Given the description of an element on the screen output the (x, y) to click on. 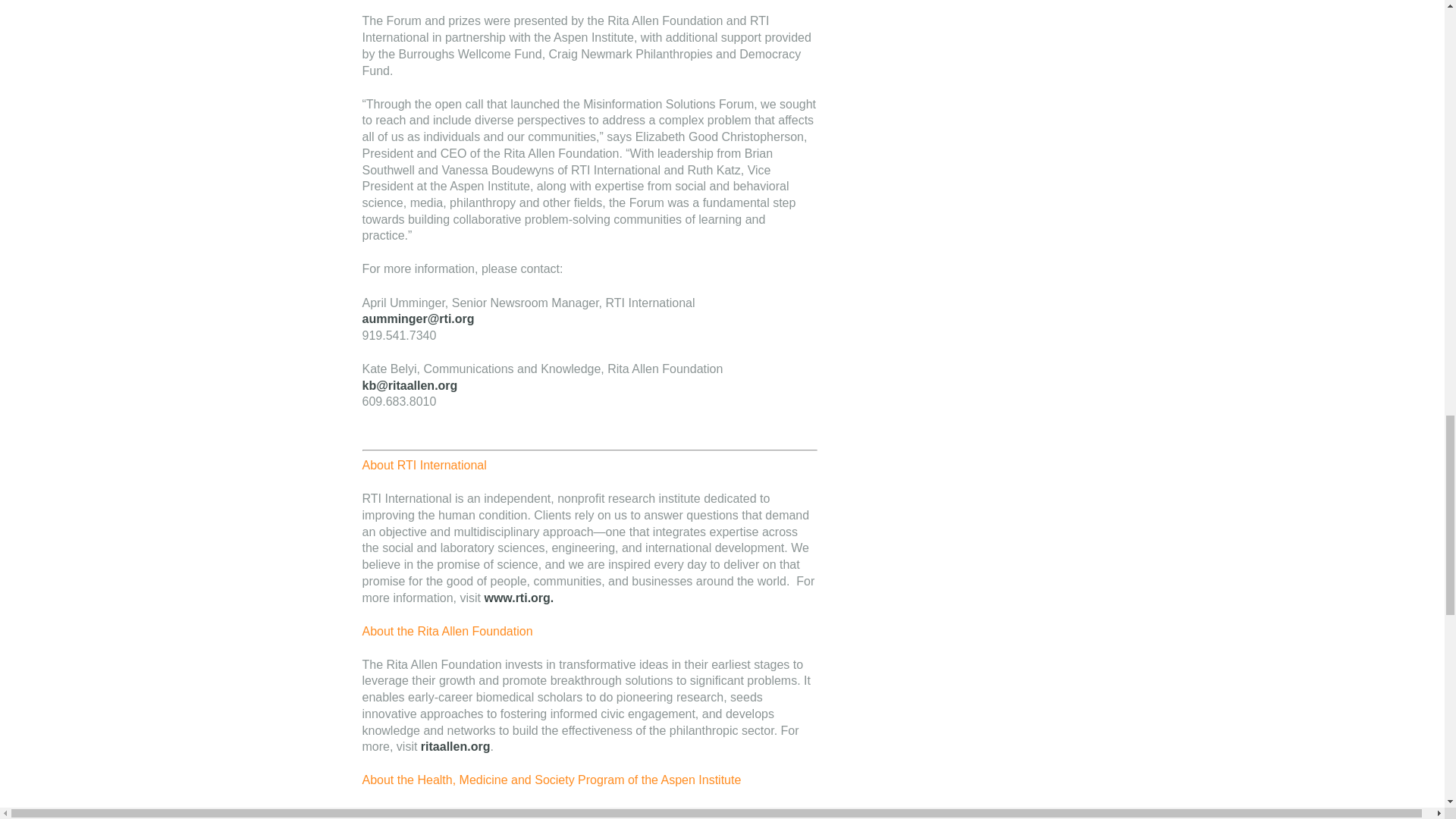
ritaallen.org (455, 746)
www.rti.org. (518, 597)
